Given the description of an element on the screen output the (x, y) to click on. 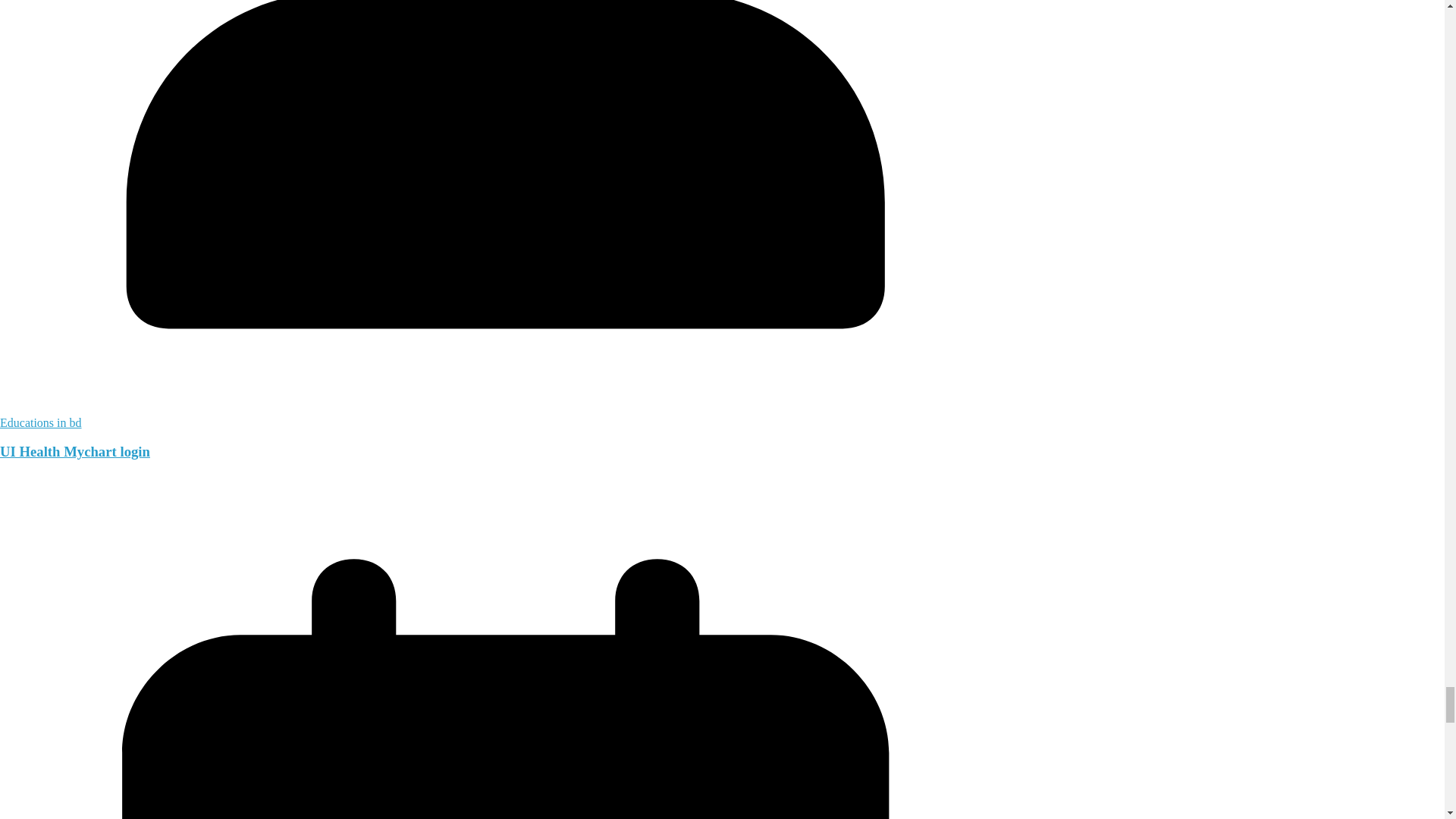
Educations in bd (40, 422)
UI Health Mychart login (74, 451)
UI Health Mychart login (74, 451)
Educations in bd (40, 422)
